Given the description of an element on the screen output the (x, y) to click on. 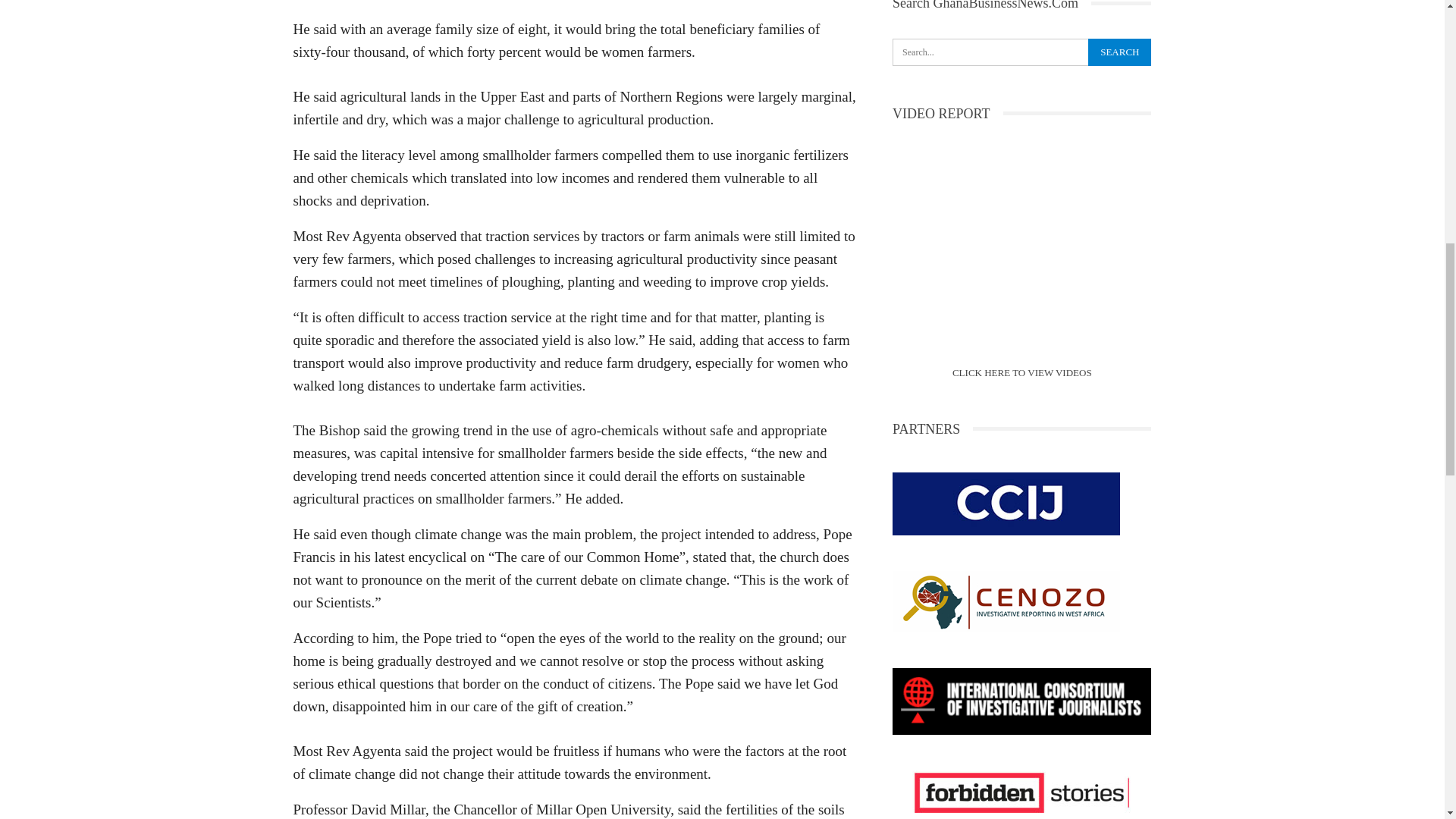
Search (1119, 52)
Search (1119, 52)
